Given the description of an element on the screen output the (x, y) to click on. 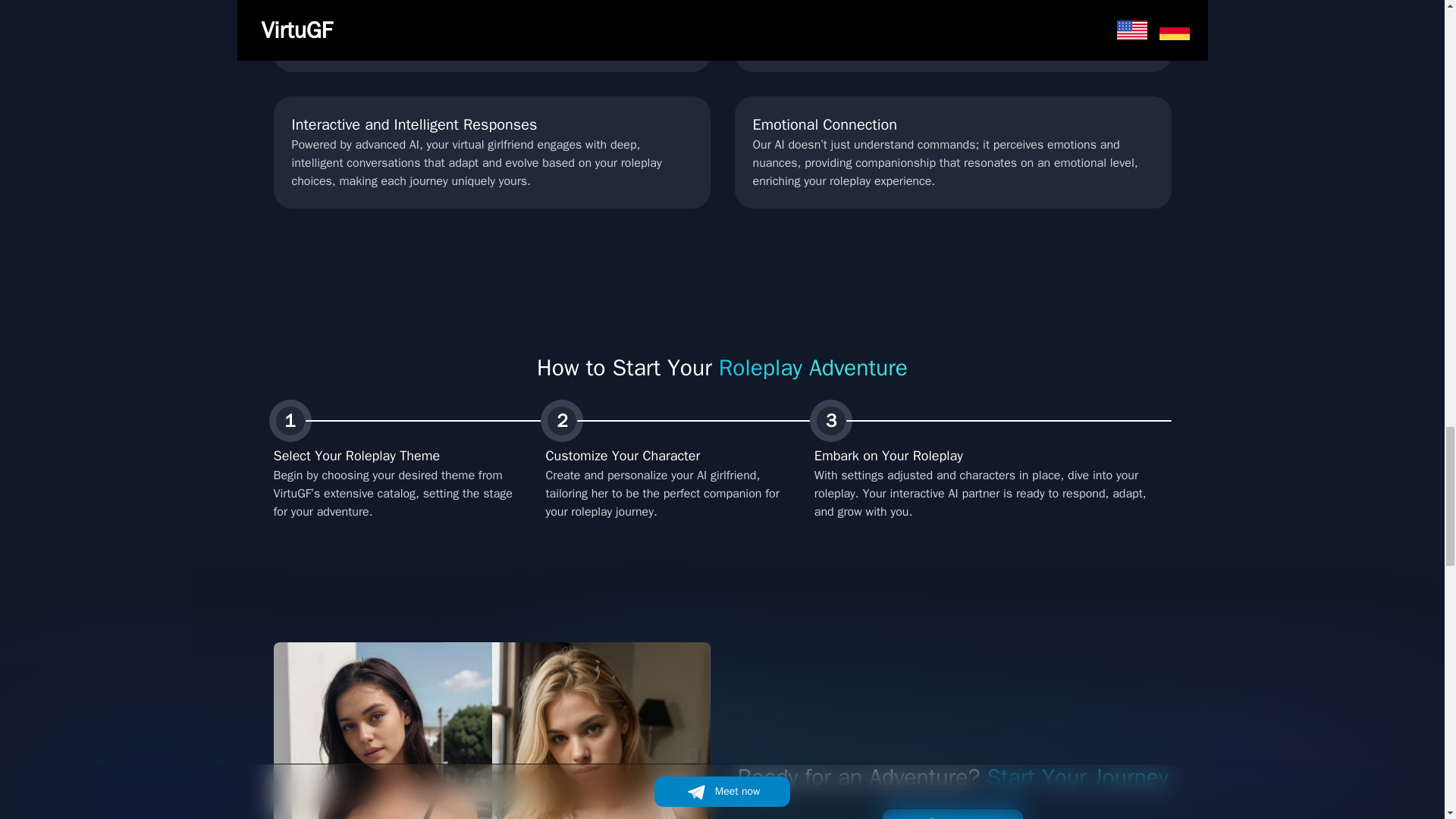
AI girlfriend (491, 730)
Try for free (952, 814)
